Given the description of an element on the screen output the (x, y) to click on. 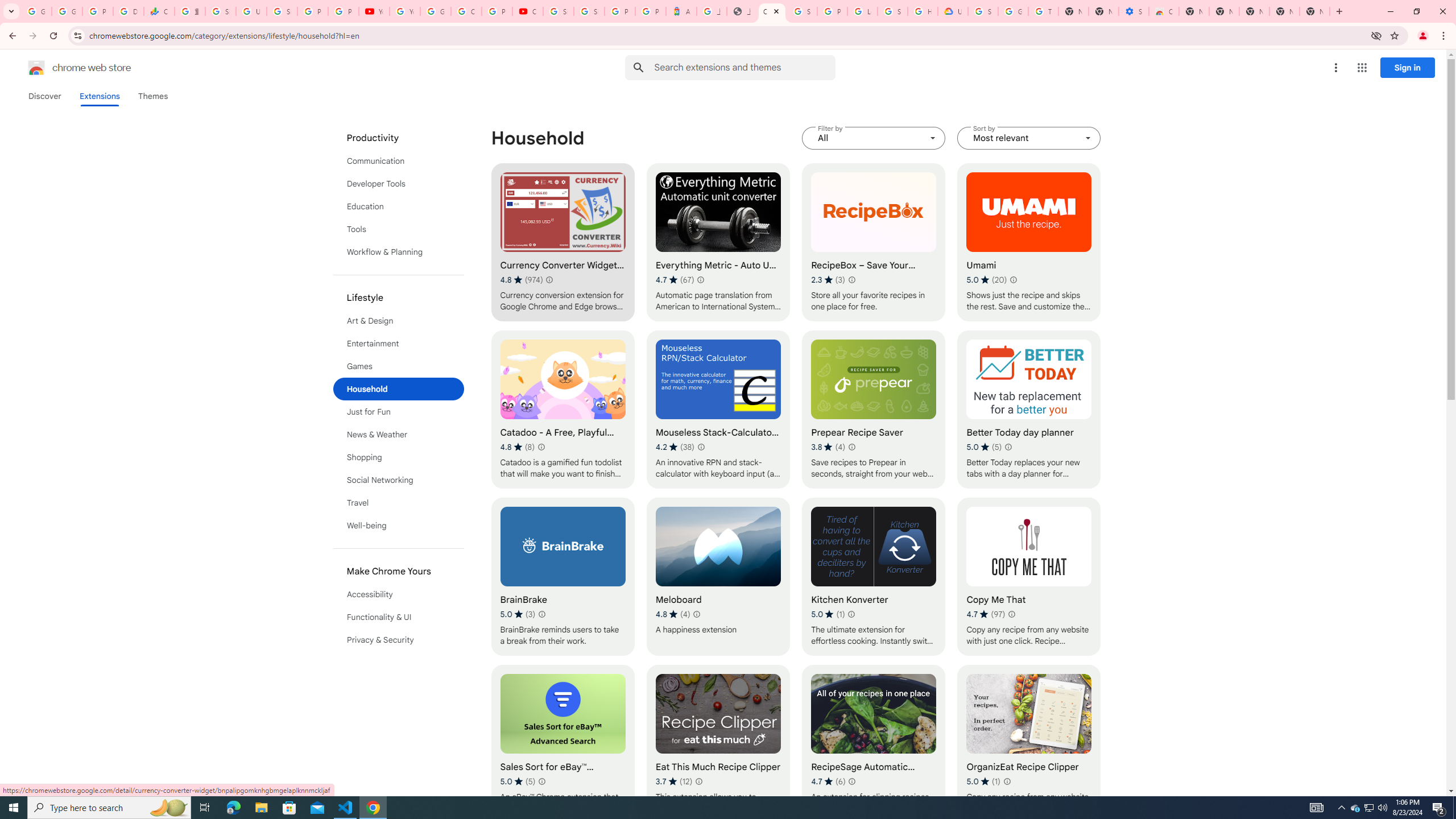
Household (selected) (398, 388)
Themes (152, 95)
Art & Design (398, 320)
Average rating 4.8 out of 5 stars. 4 ratings. (672, 613)
Google Account Help (1012, 11)
Learn more about results and reviews "Copy Me That" (1010, 613)
New Tab (1314, 11)
Games (398, 365)
Communication (398, 160)
Chrome Web Store - Household (771, 11)
Copy Me That (1028, 576)
